Given the description of an element on the screen output the (x, y) to click on. 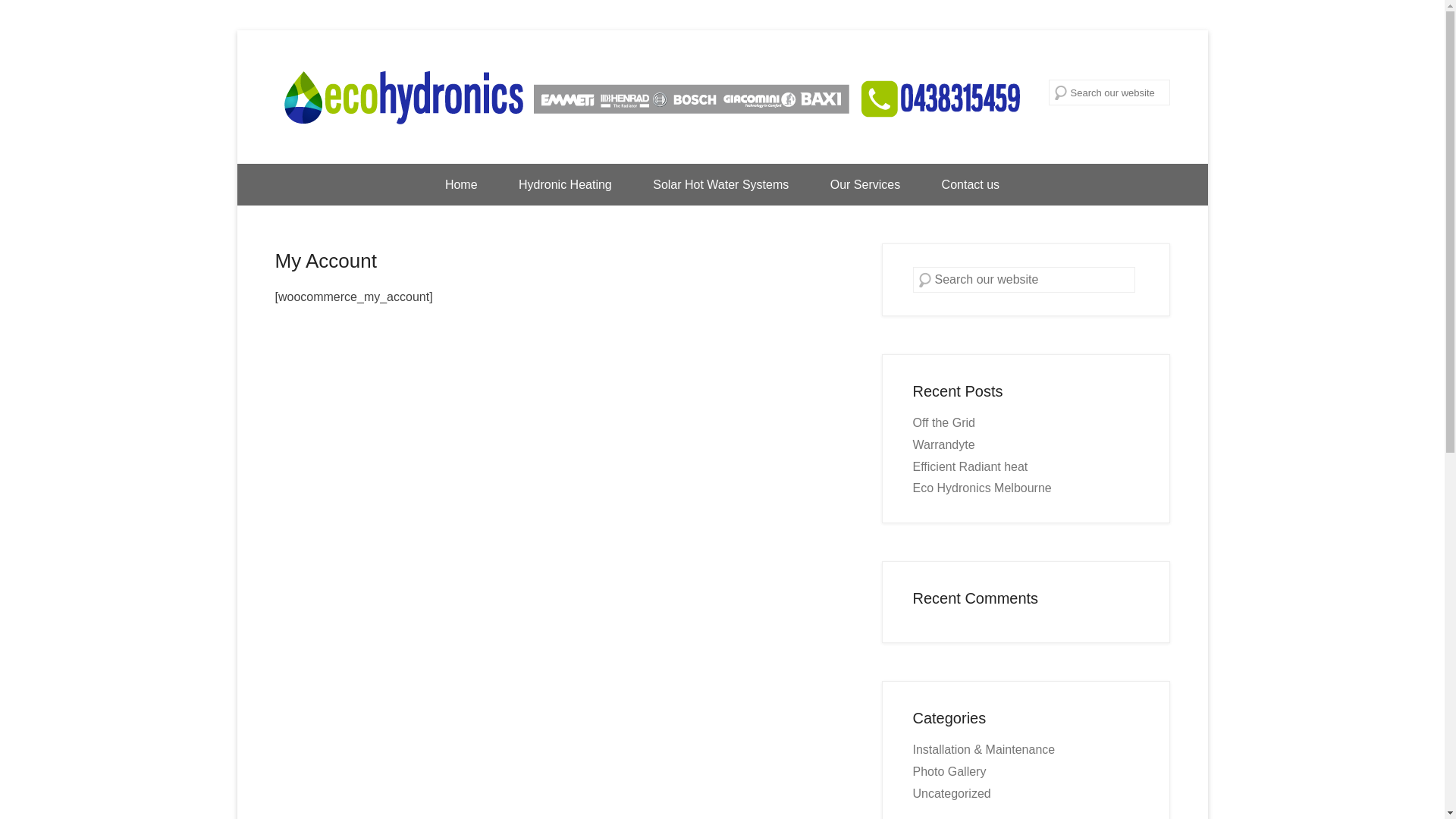
Hydronic Heating Element type: text (564, 184)
Solar Hot Water Systems Element type: text (720, 184)
Home Element type: text (461, 184)
Off the Grid Element type: text (944, 422)
Uncategorized Element type: text (952, 793)
Efficient Radiant heat Element type: text (970, 466)
Claude Alain Staub Element type: text (495, 288)
Eco Hydronics Element type: text (1132, 51)
Contact us Element type: text (970, 184)
Eco Hydronics Melbourne Element type: text (982, 487)
Search Element type: text (32, 15)
Our Services Element type: text (865, 184)
My Account Element type: text (325, 260)
Eco Hydronics Element type: hover (650, 96)
Installation & Maintenance Element type: text (984, 749)
Photo Gallery Element type: text (949, 771)
Warrandyte Element type: text (944, 444)
